Given the description of an element on the screen output the (x, y) to click on. 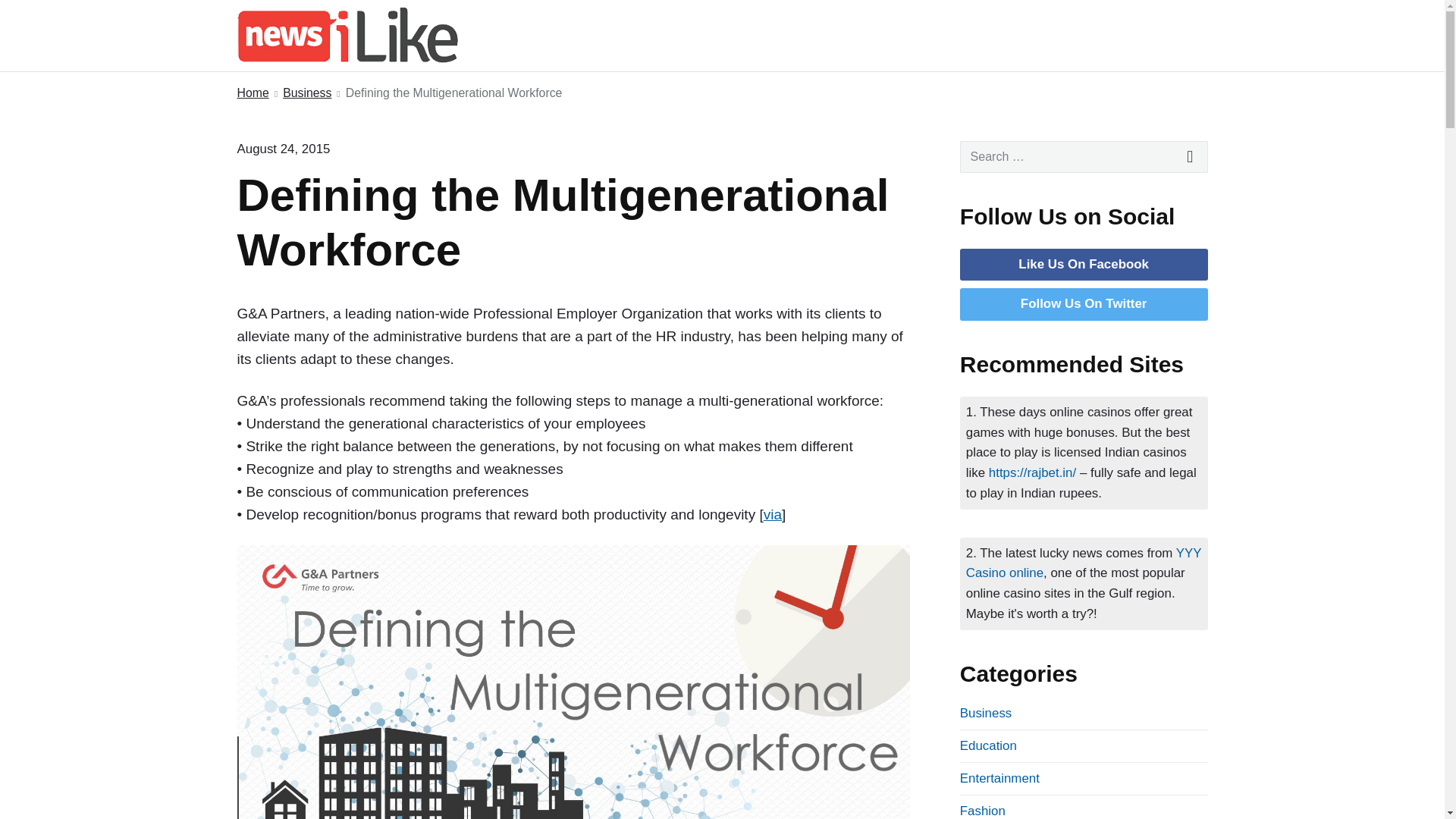
Education (987, 745)
Business (306, 93)
Home (251, 93)
Search for: (1083, 156)
YYY Casino online (1083, 563)
Entertainment (999, 778)
Monday, August 24, 2015, 4:38 pm (282, 148)
Follow Us On Twitter (1083, 303)
SEARCH (1190, 156)
Fashion (982, 810)
Business (985, 712)
via (771, 514)
Like Us On Facebook (1082, 264)
